Given the description of an element on the screen output the (x, y) to click on. 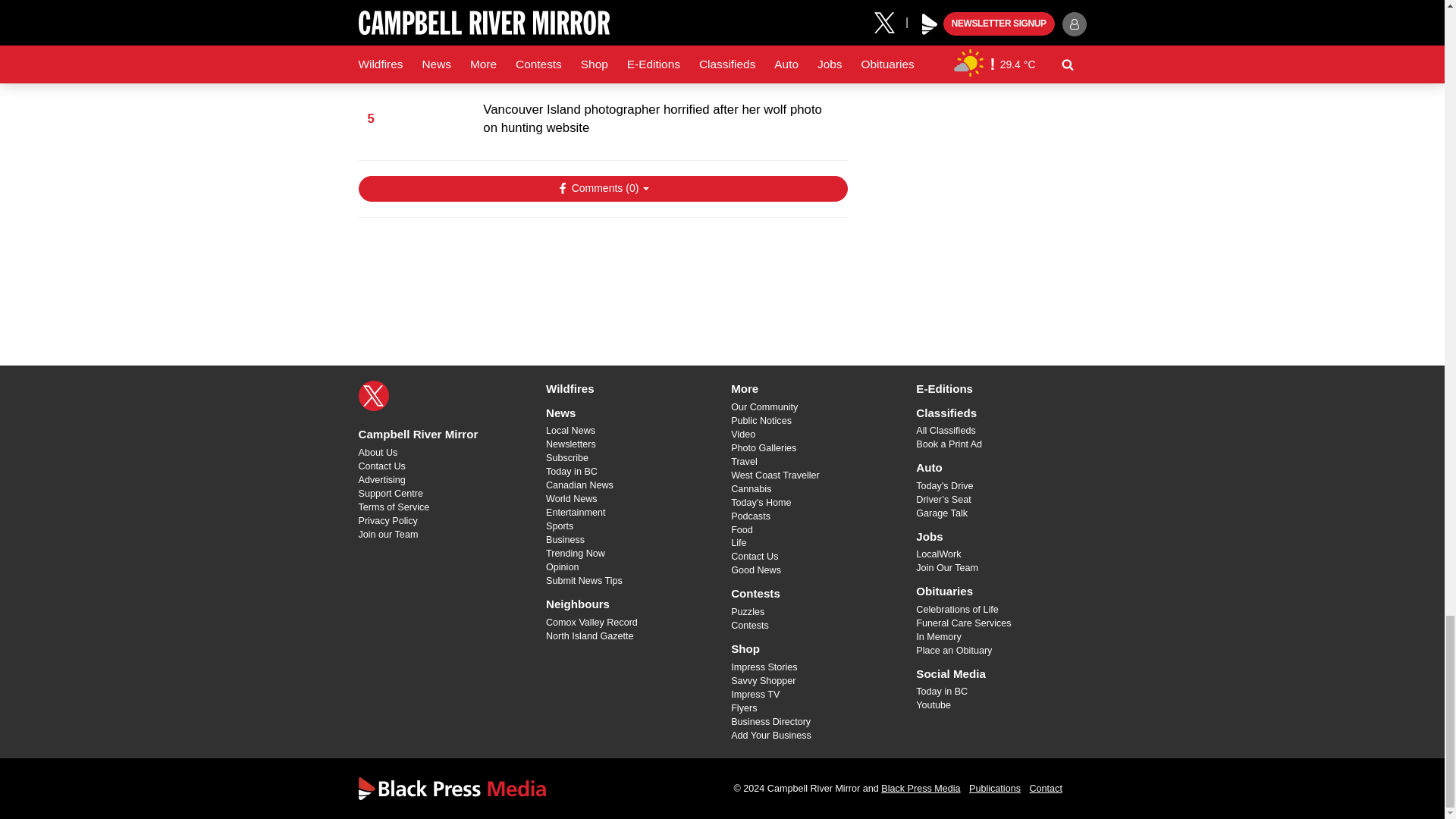
X (373, 395)
Show Comments (602, 188)
